Given the description of an element on the screen output the (x, y) to click on. 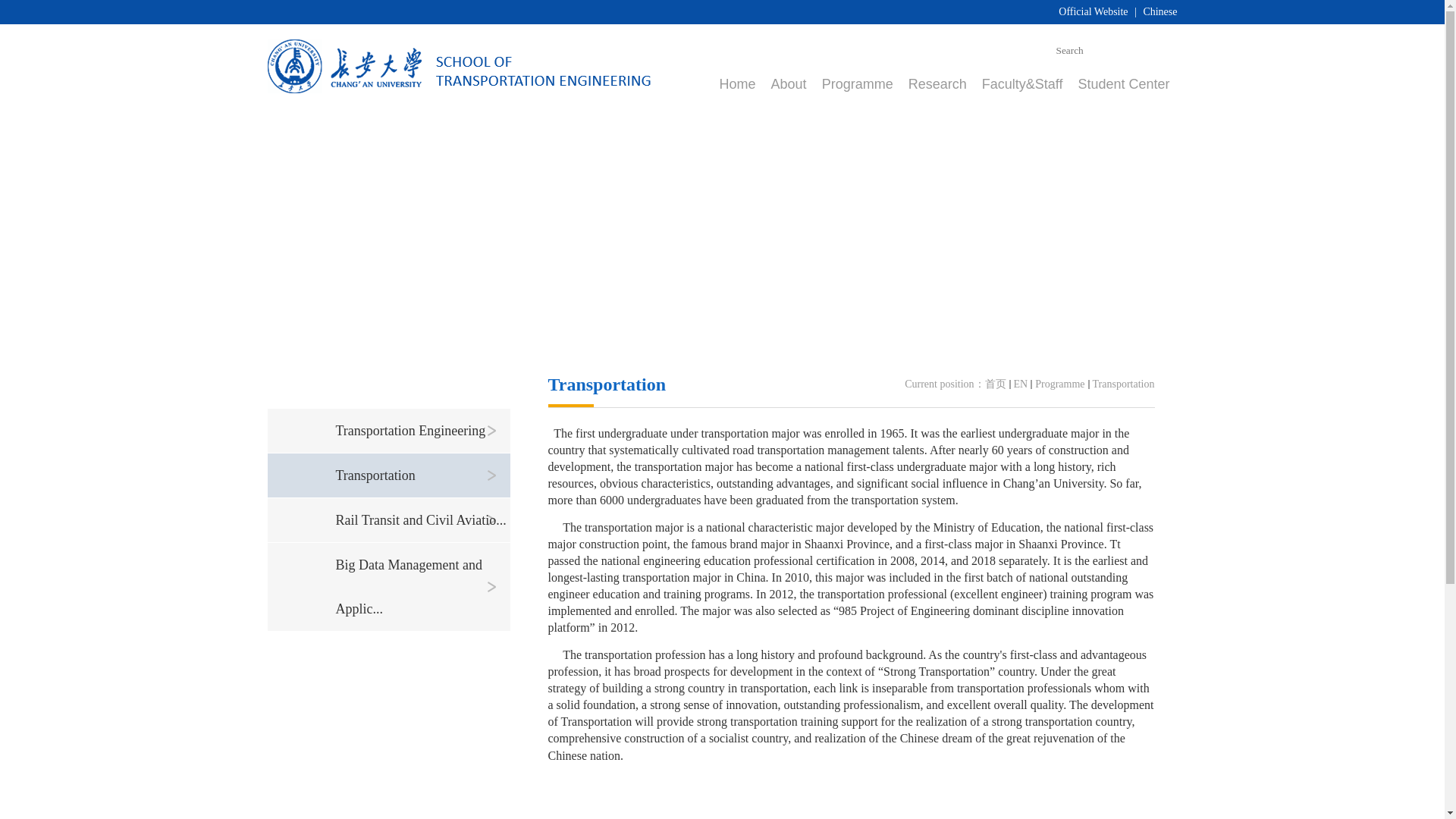
Home (737, 84)
Programme (857, 84)
Student Center (1123, 84)
Chinese (1159, 11)
Transportation (1123, 383)
Transportation Engineering (421, 430)
Official Website (1092, 11)
Big Data Management and Applic... (421, 586)
Research (937, 84)
EN (1020, 383)
